Given the description of an element on the screen output the (x, y) to click on. 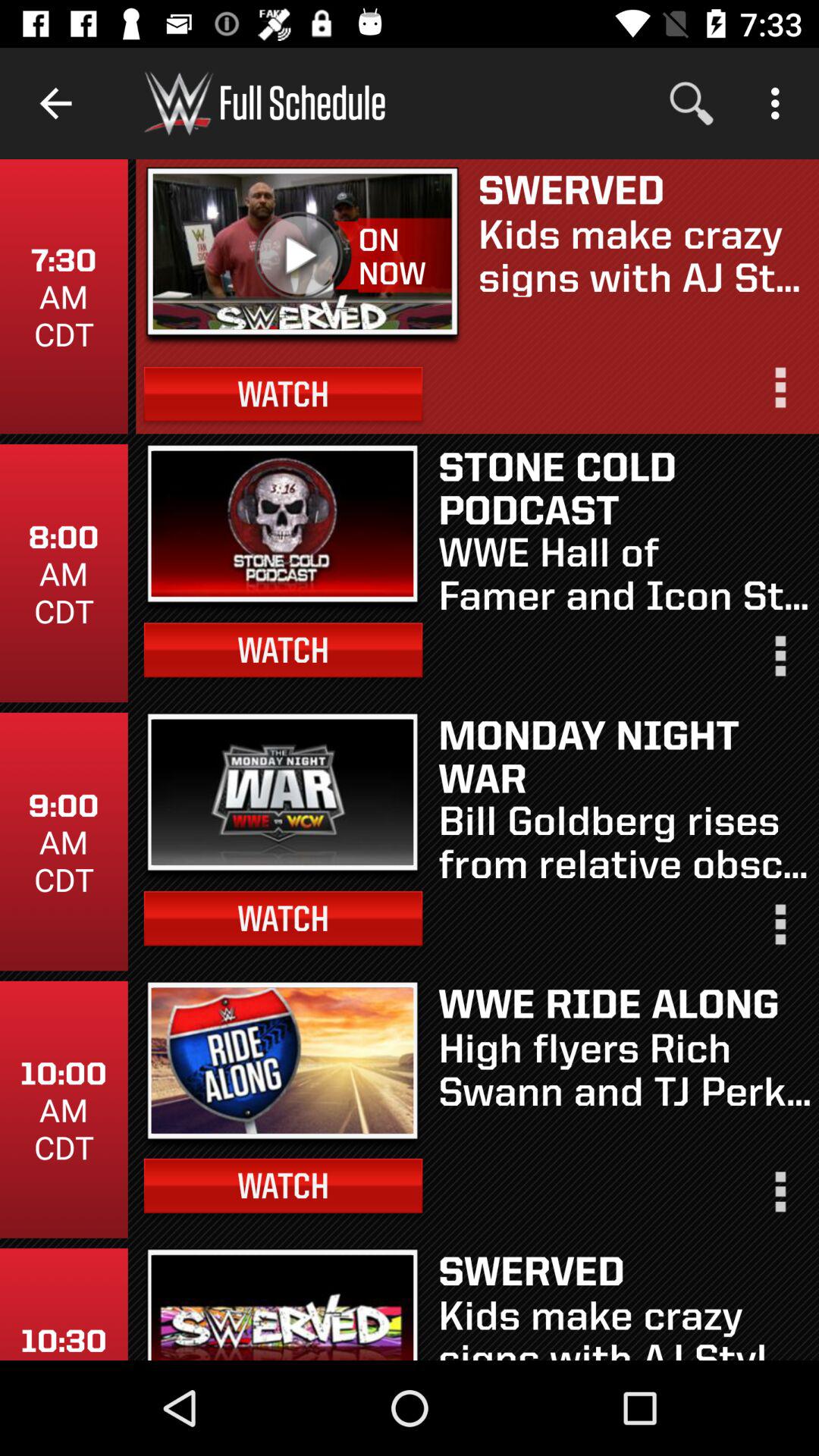
more information (779, 393)
